Given the description of an element on the screen output the (x, y) to click on. 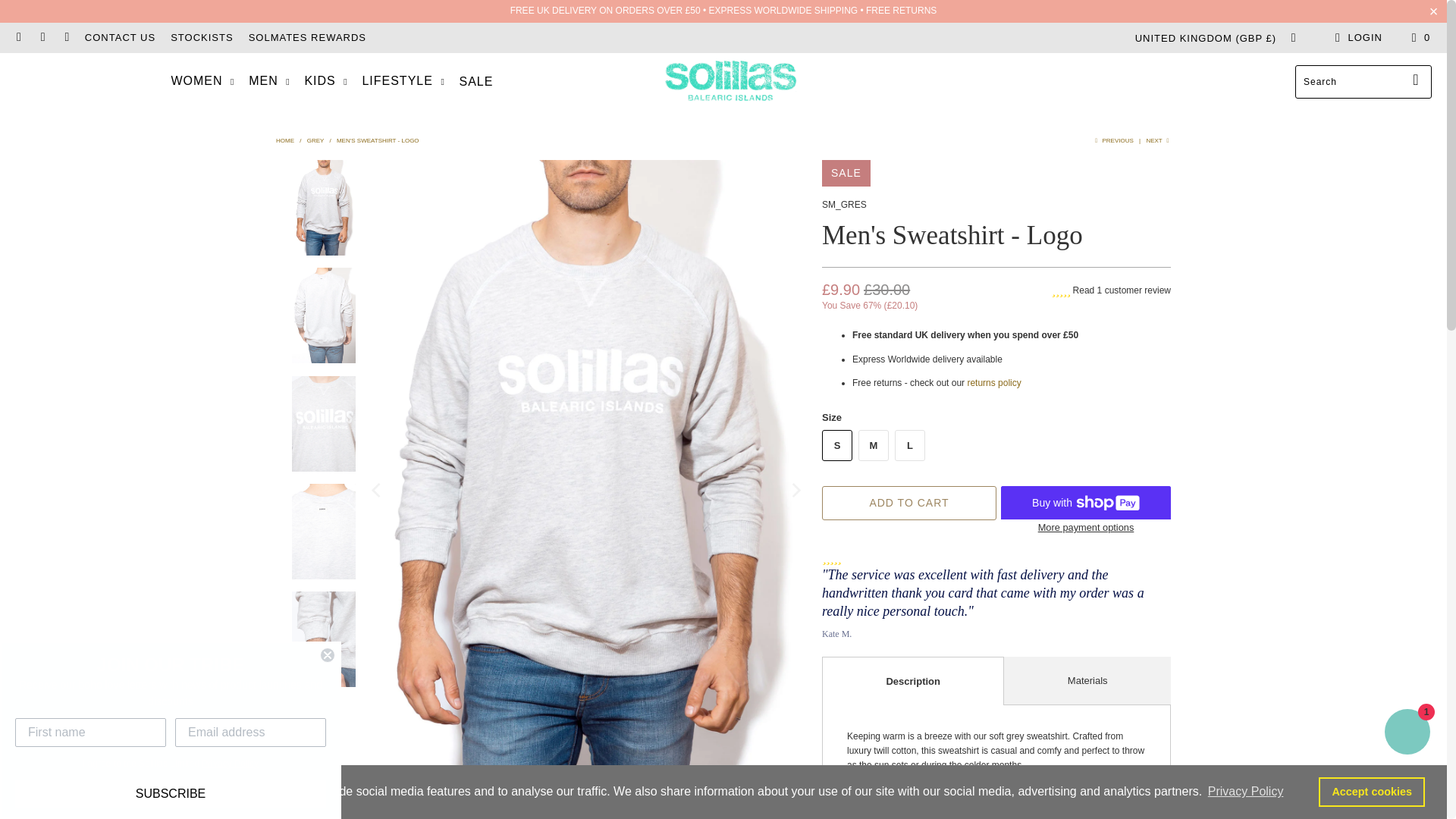
solillas (729, 81)
solillas on Pinterest (65, 37)
Delivery information (724, 9)
solillas on Instagram (41, 37)
Next (1157, 140)
Privacy Policy (1245, 791)
Previous (1112, 140)
Accept cookies (1372, 791)
solillas on Facebook (17, 37)
My Account  (1355, 37)
